Given the description of an element on the screen output the (x, y) to click on. 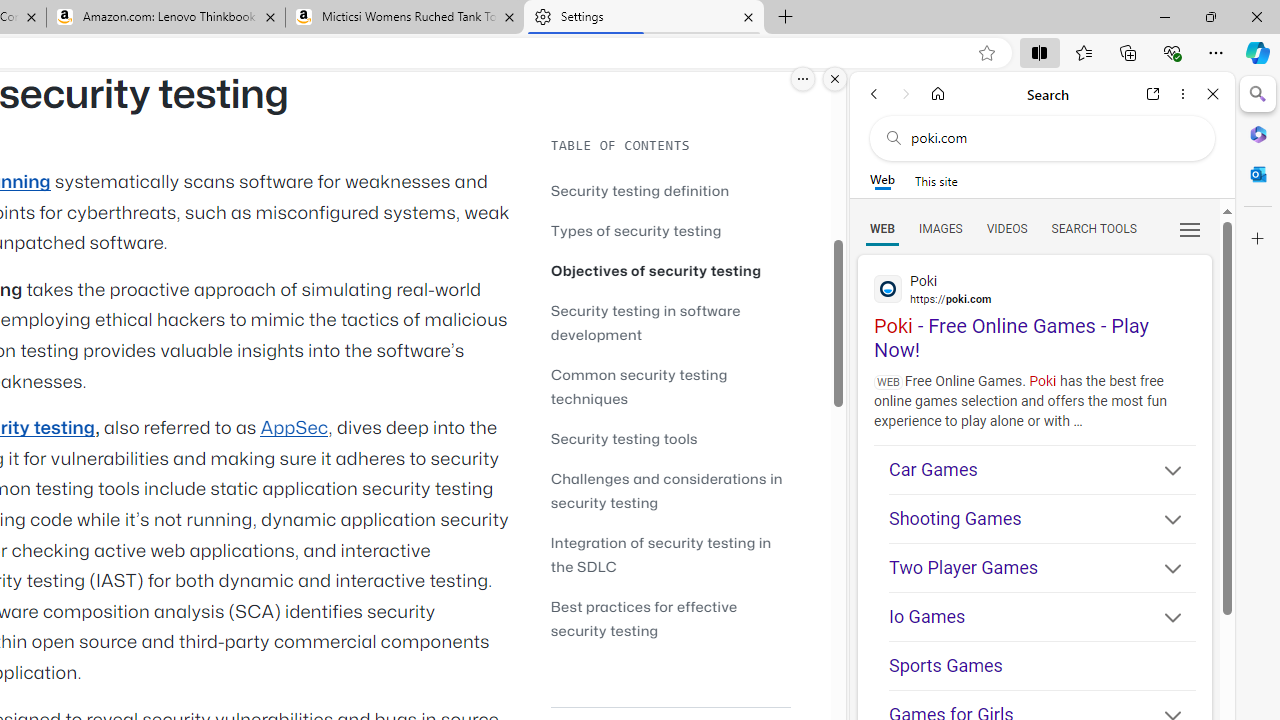
Security testing tools (623, 438)
Challenges and considerations in security testing (670, 489)
Best practices for effective security testing (644, 618)
Io Games (1042, 616)
Best practices for effective security testing (670, 618)
Security testing tools (670, 438)
Objectives of security testing (670, 269)
